Given the description of an element on the screen output the (x, y) to click on. 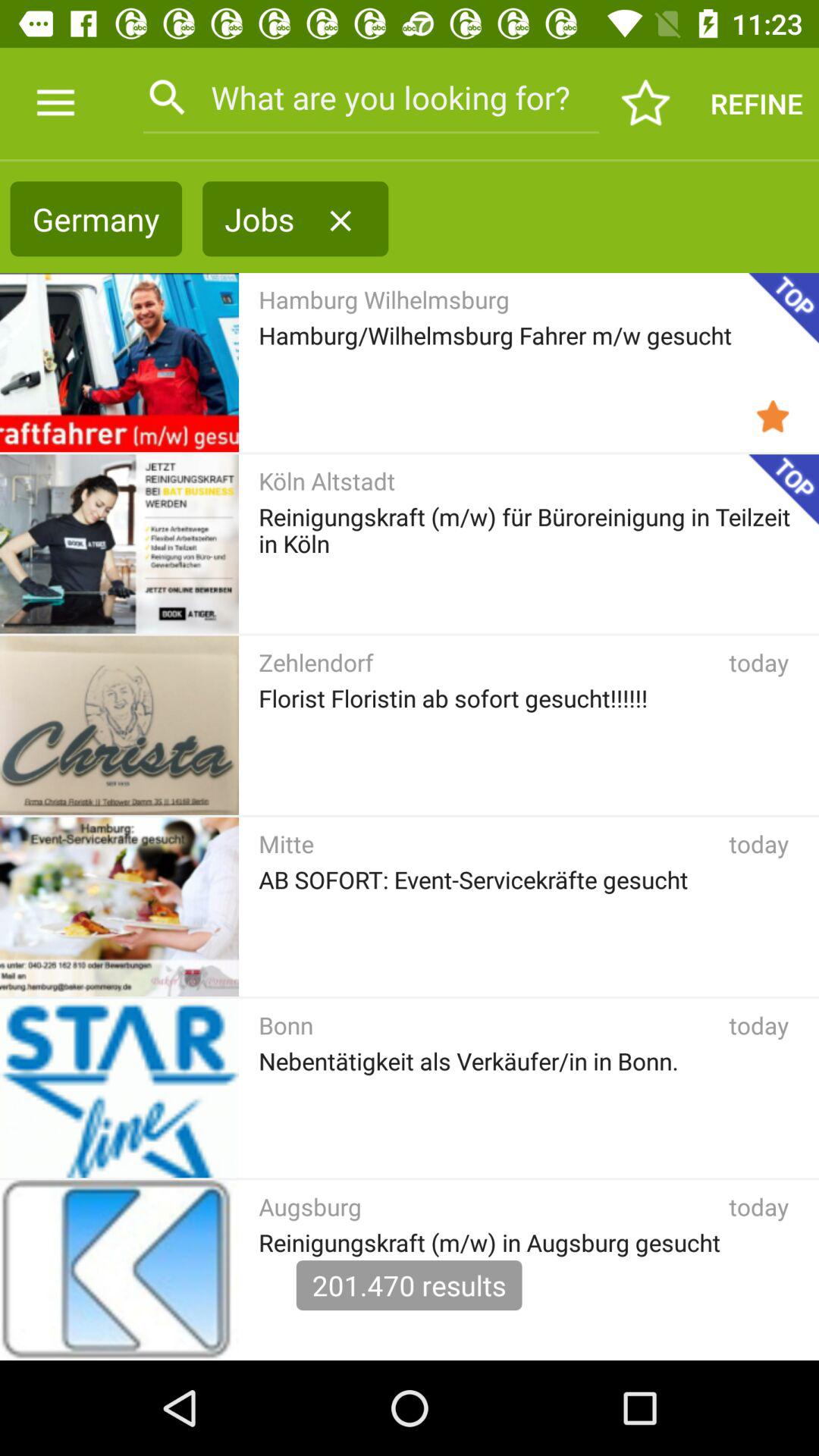
launch what are you (370, 97)
